Given the description of an element on the screen output the (x, y) to click on. 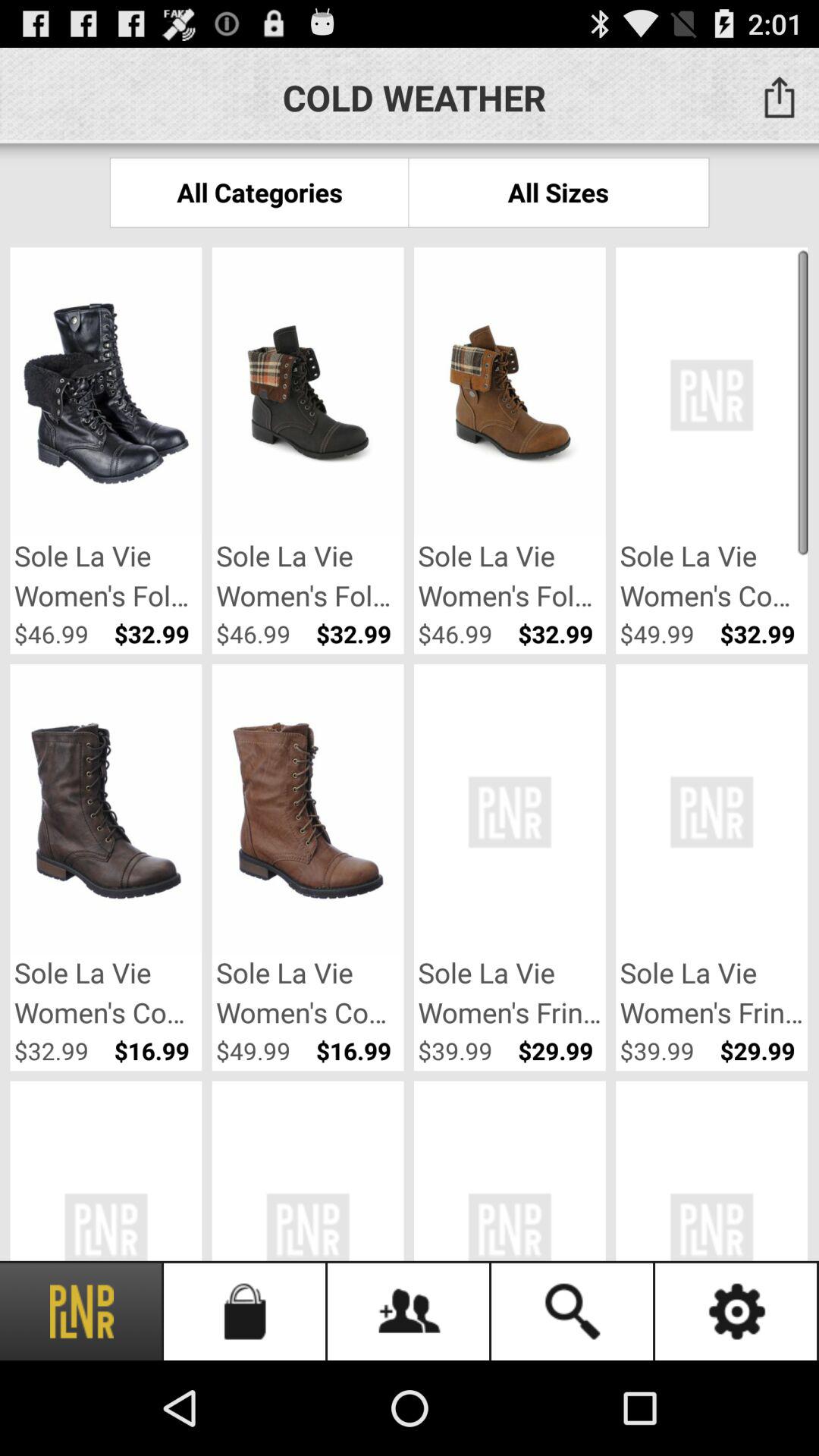
choose the item below cold weather icon (259, 192)
